Given the description of an element on the screen output the (x, y) to click on. 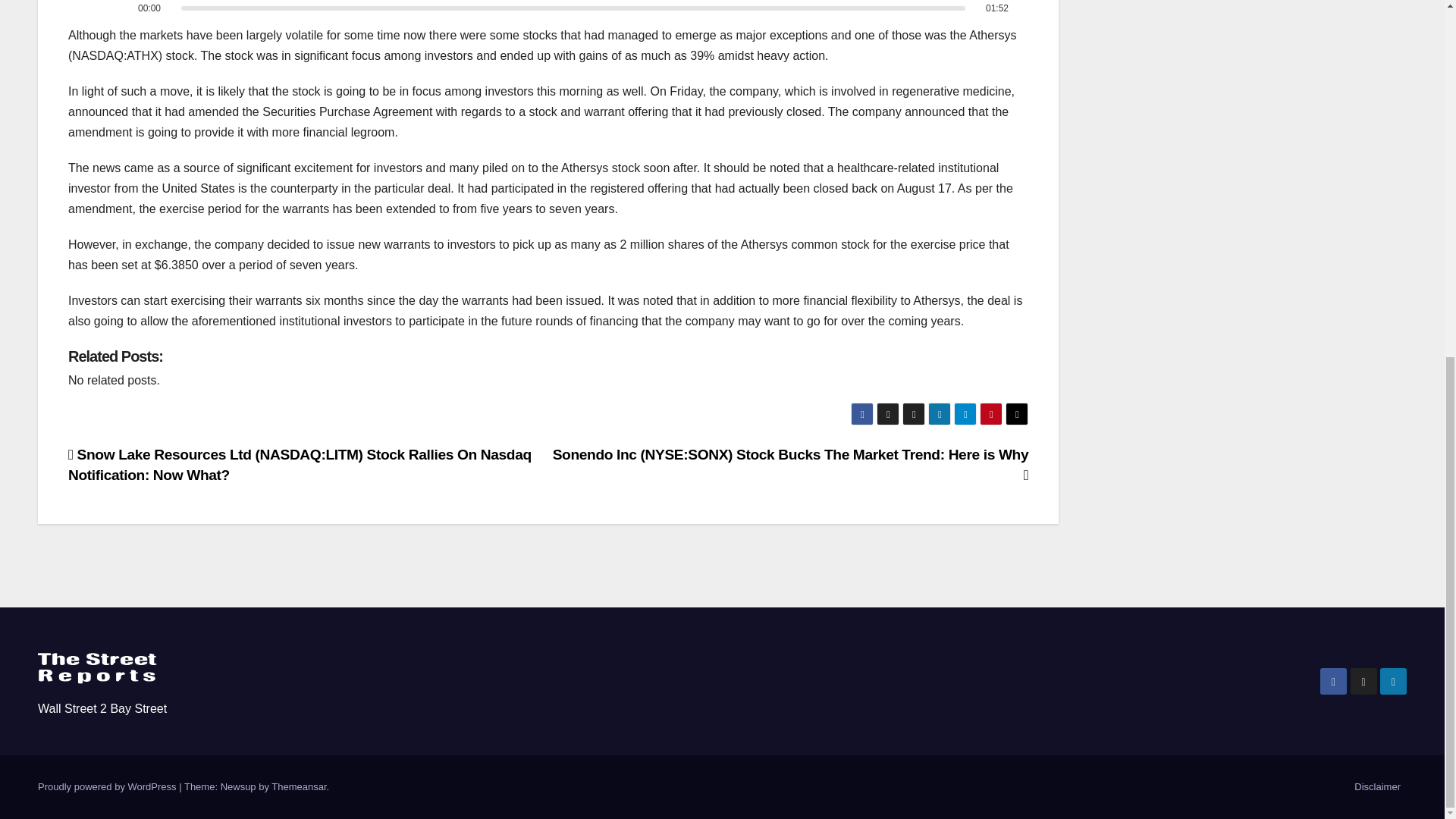
Disclaimer (1377, 786)
Trinity Audio Player (548, 9)
